Given the description of an element on the screen output the (x, y) to click on. 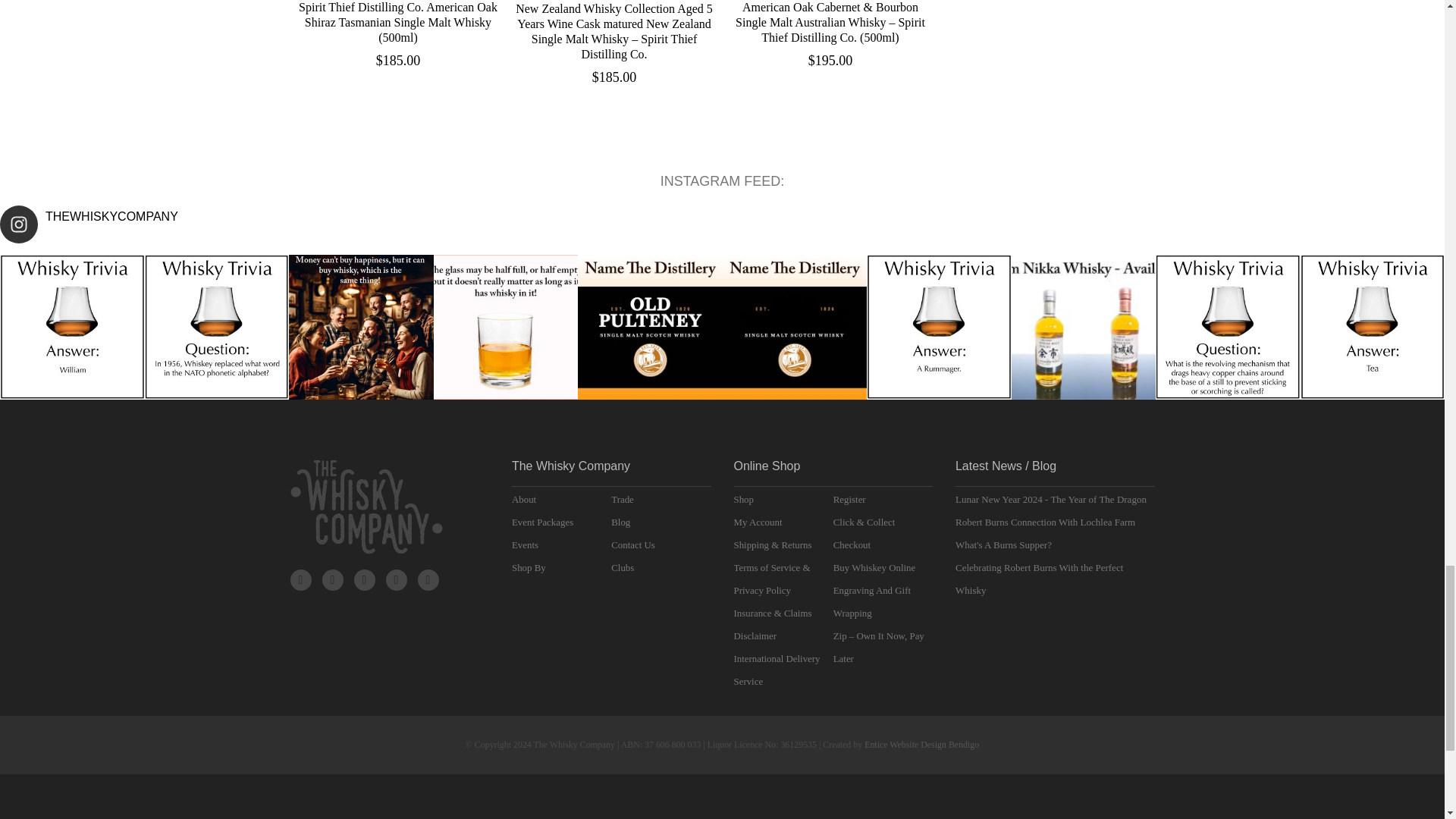
The Whiskey Company (365, 507)
